Given the description of an element on the screen output the (x, y) to click on. 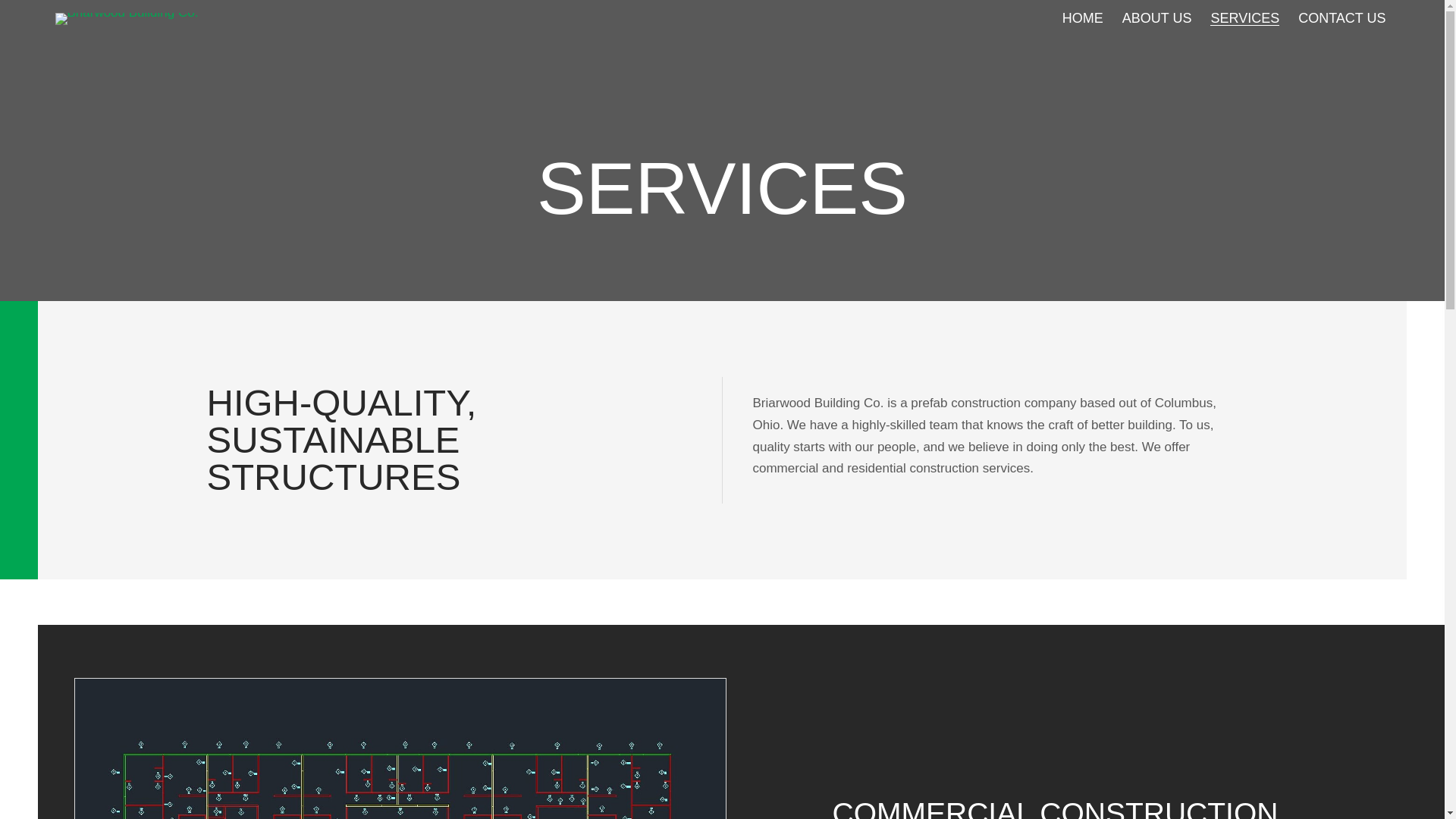
HOME (1082, 18)
SERVICES (1244, 18)
CONTACT US (1342, 18)
ABOUT US (1157, 18)
